Given the description of an element on the screen output the (x, y) to click on. 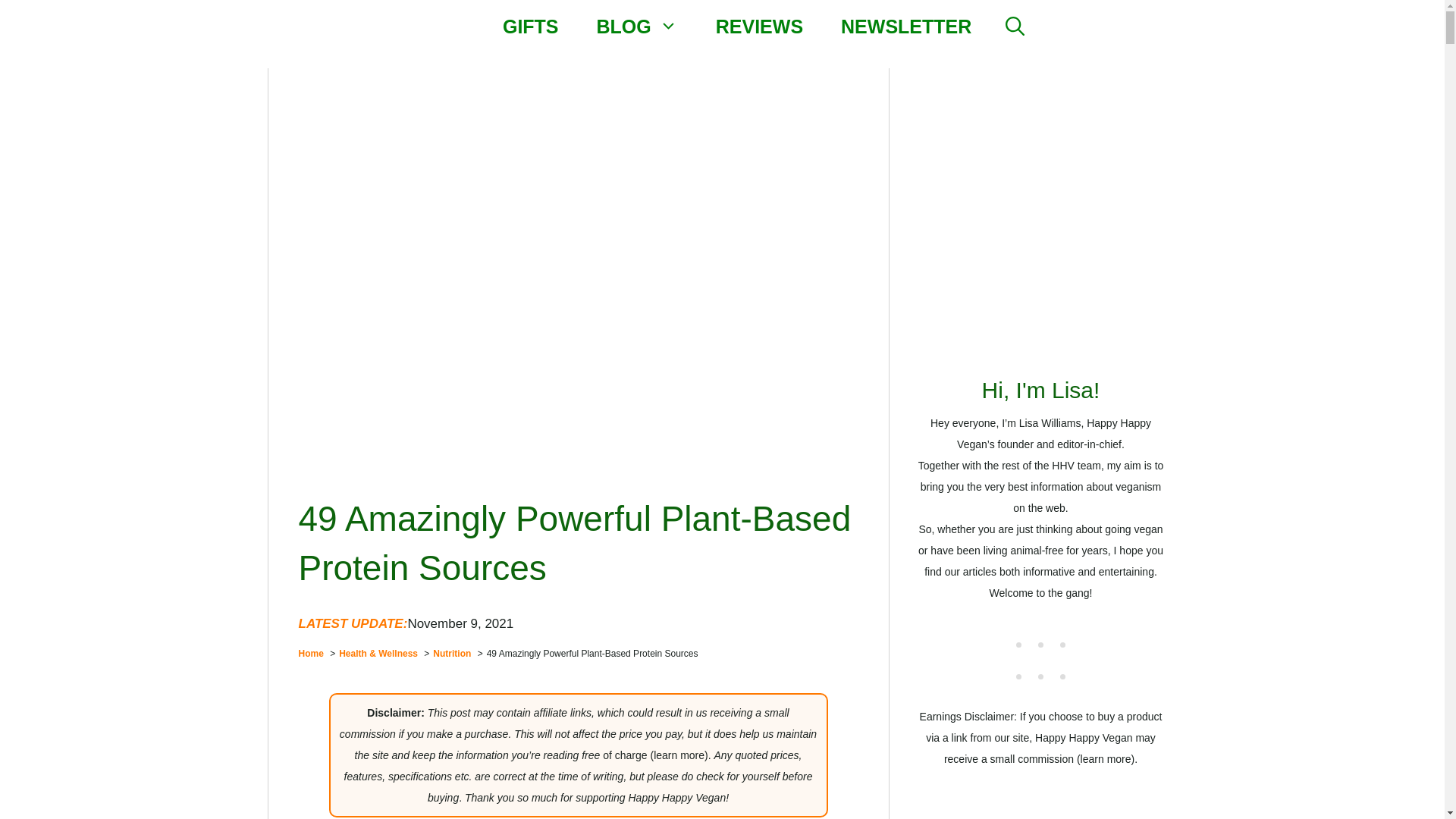
GIFTS (530, 26)
BLOG (636, 26)
Happy Happy Vegan (444, 26)
